Given the description of an element on the screen output the (x, y) to click on. 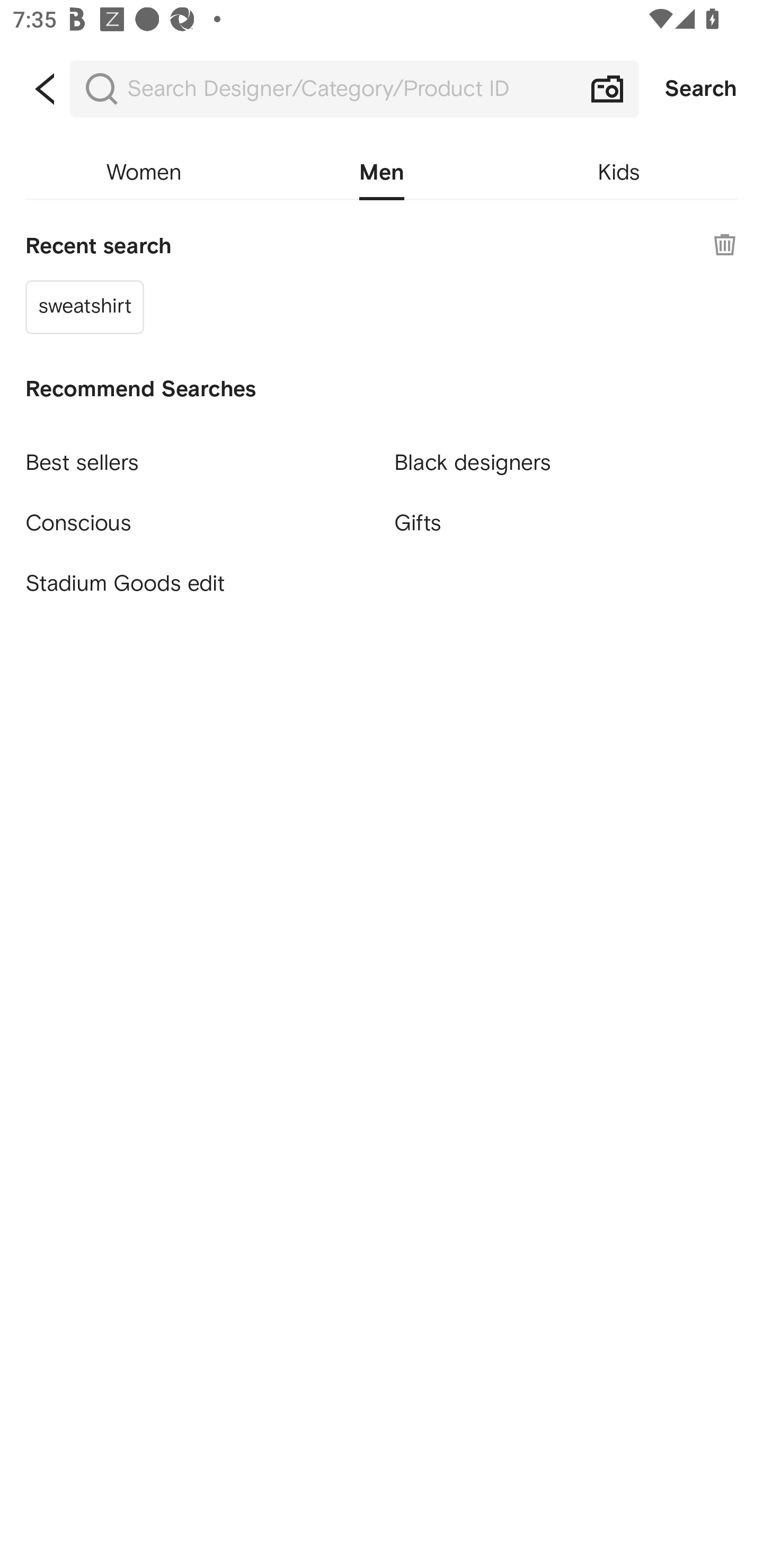
Search (701, 89)
Women (143, 172)
Kids (618, 172)
sweatshirt (84, 306)
Best sellers (196, 454)
Black designers (565, 454)
Conscious (196, 514)
Gifts (565, 522)
Stadium Goods edit (196, 583)
